Given the description of an element on the screen output the (x, y) to click on. 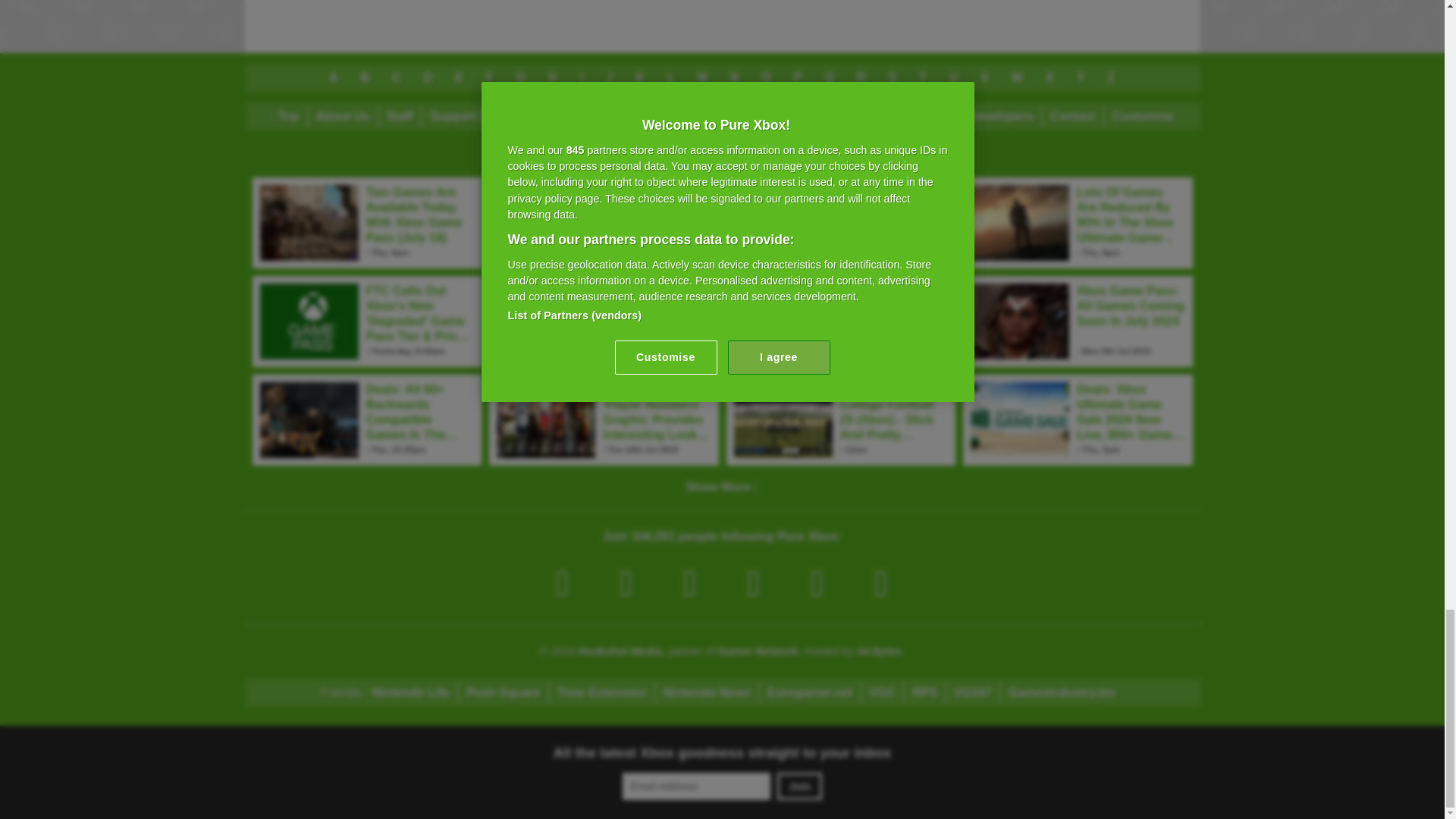
Join (799, 786)
